Given the description of an element on the screen output the (x, y) to click on. 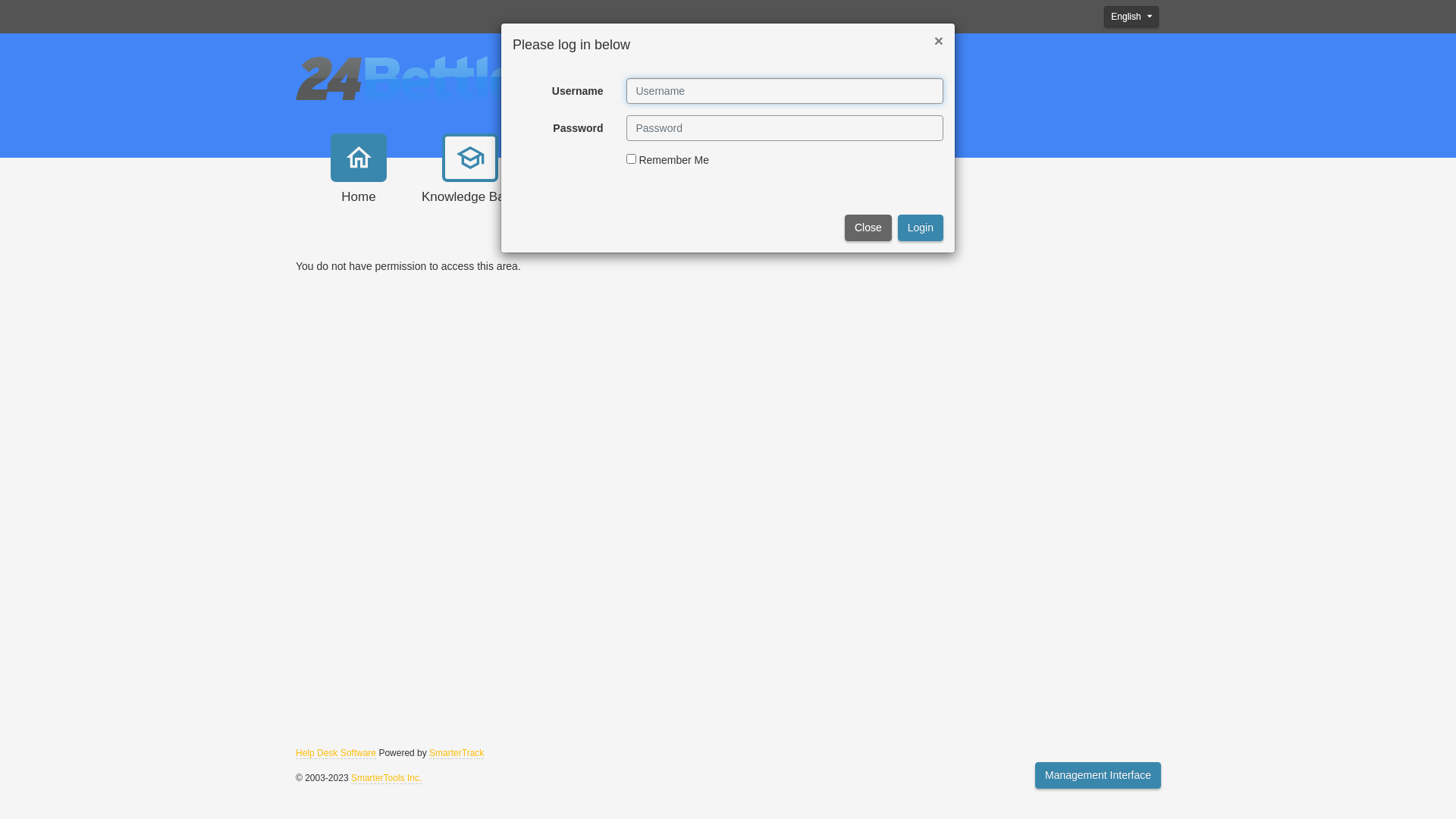
24Bettle Element type: hover (406, 76)
Community Element type: text (790, 184)
Home Element type: text (358, 184)
SmarterTrack Element type: text (456, 753)
News Element type: text (581, 184)
English Element type: text (1131, 16)
Close Element type: text (867, 227)
Knowledge Base Element type: text (469, 184)
SmarterTools Inc. Element type: text (386, 778)
Login Element type: text (920, 227)
Management Interface Element type: text (1098, 775)
Tickets Element type: text (686, 184)
Help Desk Software Element type: text (335, 753)
